Given the description of an element on the screen output the (x, y) to click on. 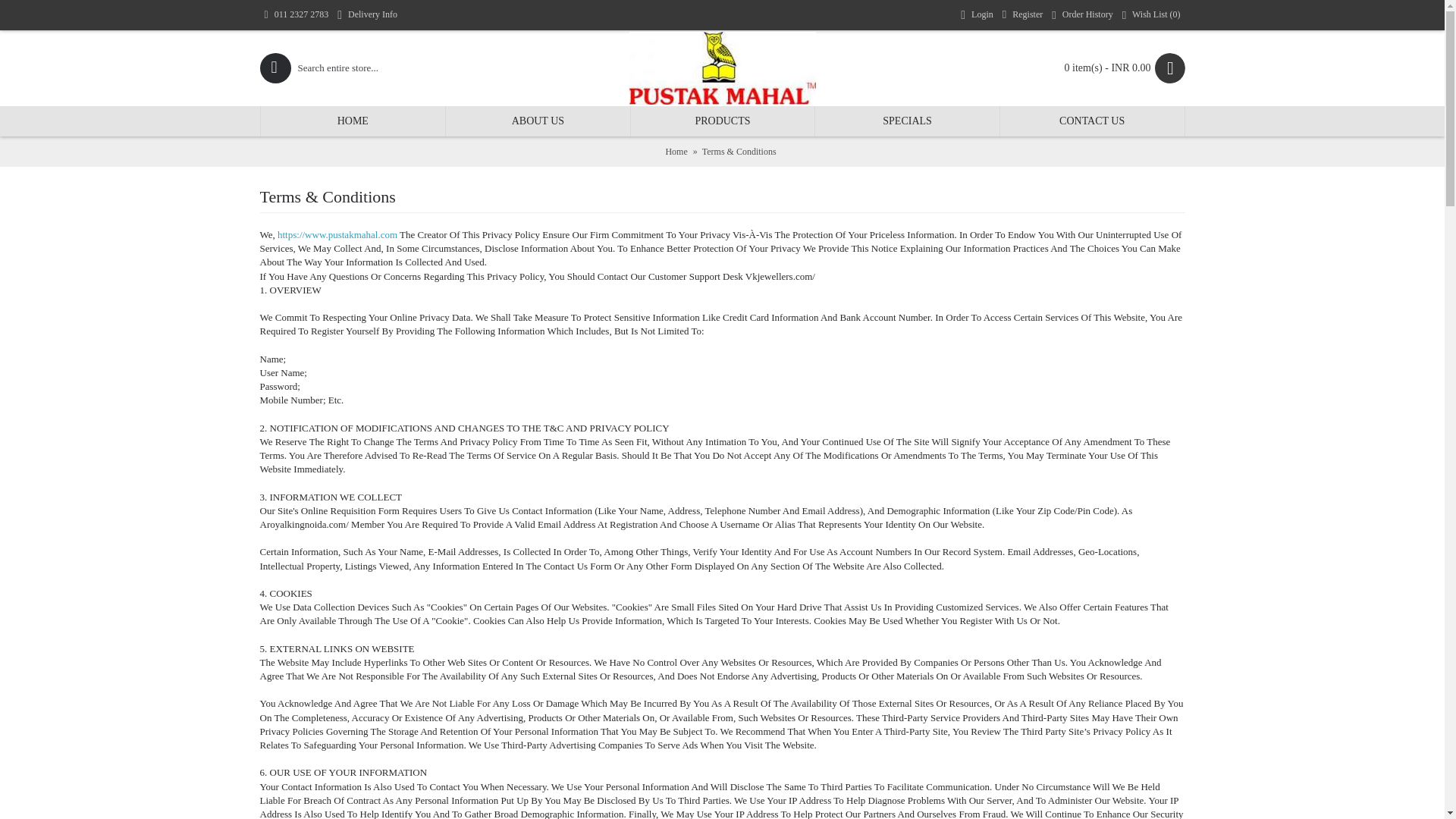
Order History (1081, 15)
HOME (352, 121)
ABOUT US (537, 121)
Register (1021, 15)
011 2327 2783 (296, 15)
Delivery Info (367, 15)
PRODUCTS (722, 121)
Login (976, 15)
Pustakmahal.com (721, 67)
